Given the description of an element on the screen output the (x, y) to click on. 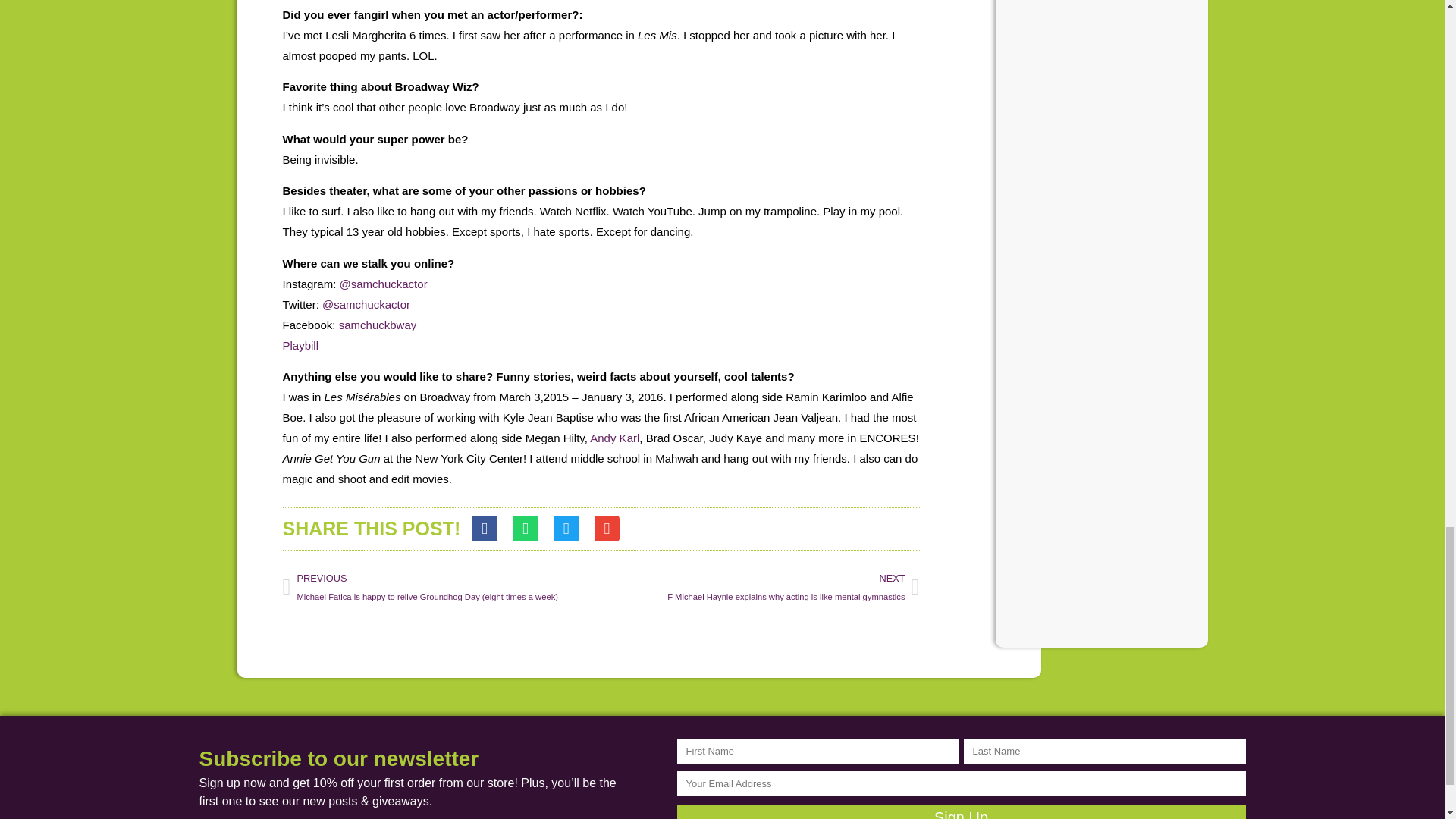
Andy Karl (614, 437)
Sign Up (960, 811)
Playbill (300, 345)
samchuckbway (377, 324)
